Given the description of an element on the screen output the (x, y) to click on. 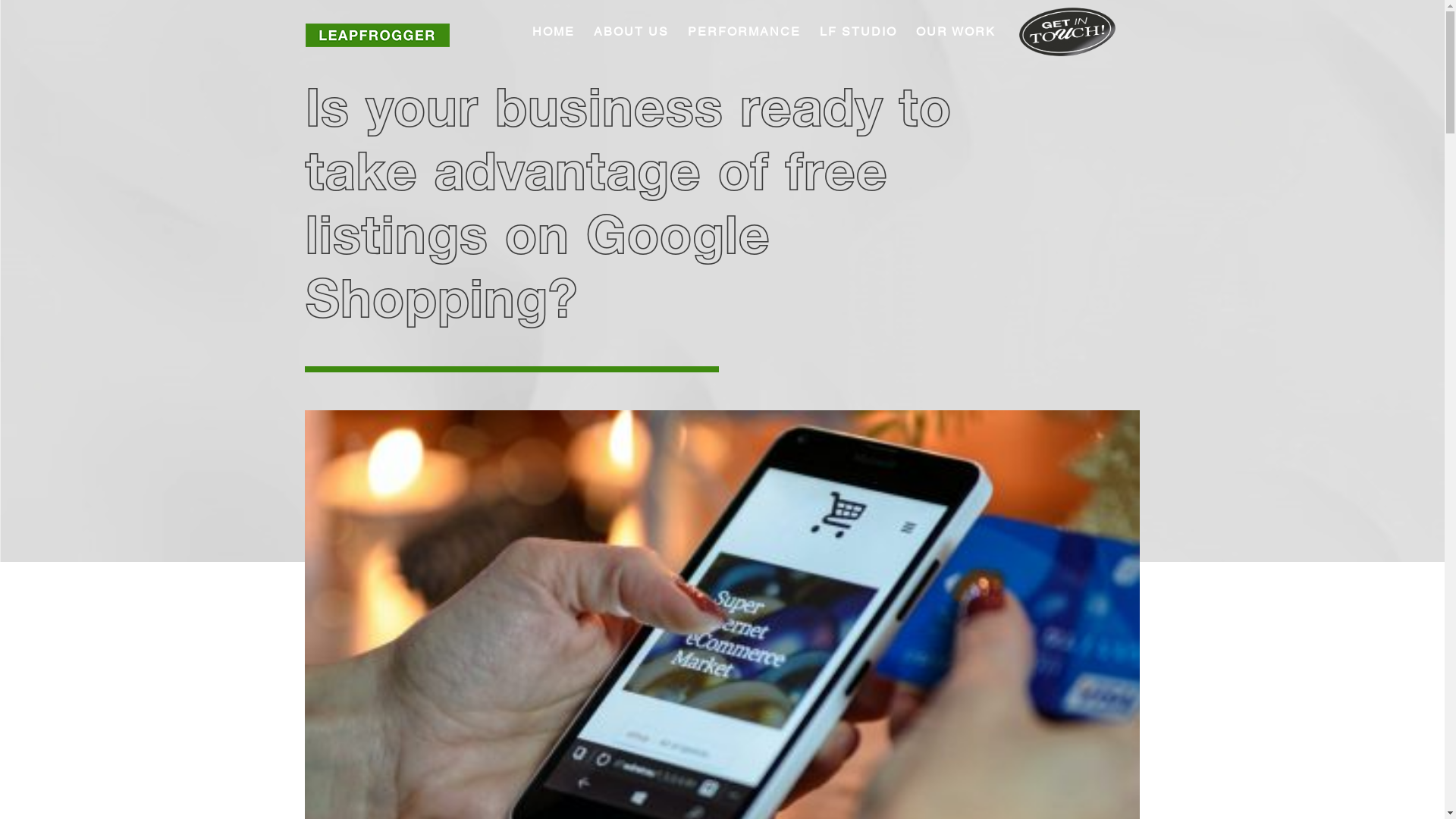
PERFORMANCE Element type: text (743, 31)
Get in touch 31-05-2022 12_00_02_442 Element type: hover (1067, 31)
OUR WORK Element type: text (955, 31)
LF STUDIO Element type: text (857, 31)
HOME Element type: text (553, 31)
ABOUT US Element type: text (630, 31)
